Given the description of an element on the screen output the (x, y) to click on. 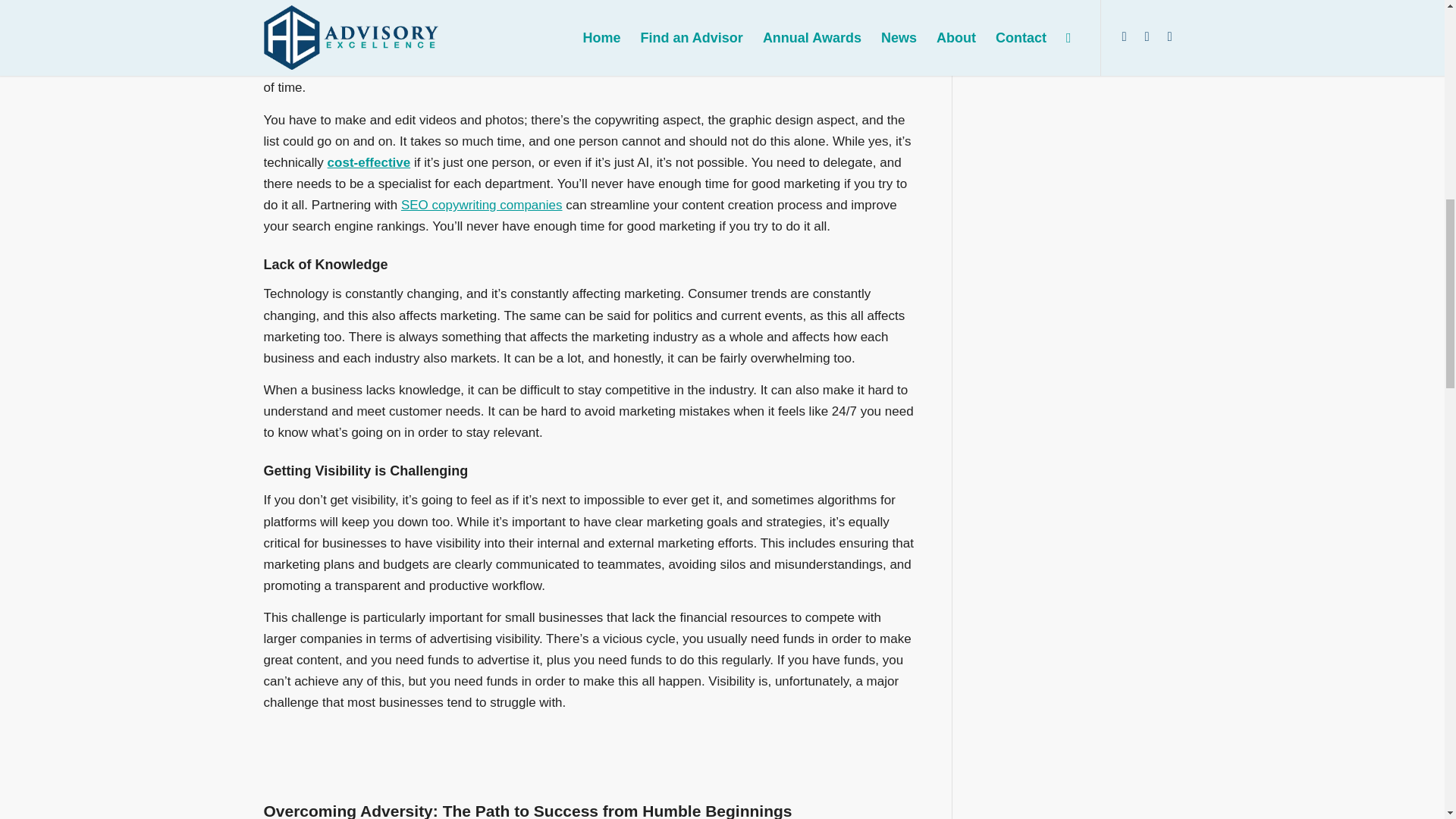
cost-effective (368, 162)
SEO copywriting companies (481, 205)
